Given the description of an element on the screen output the (x, y) to click on. 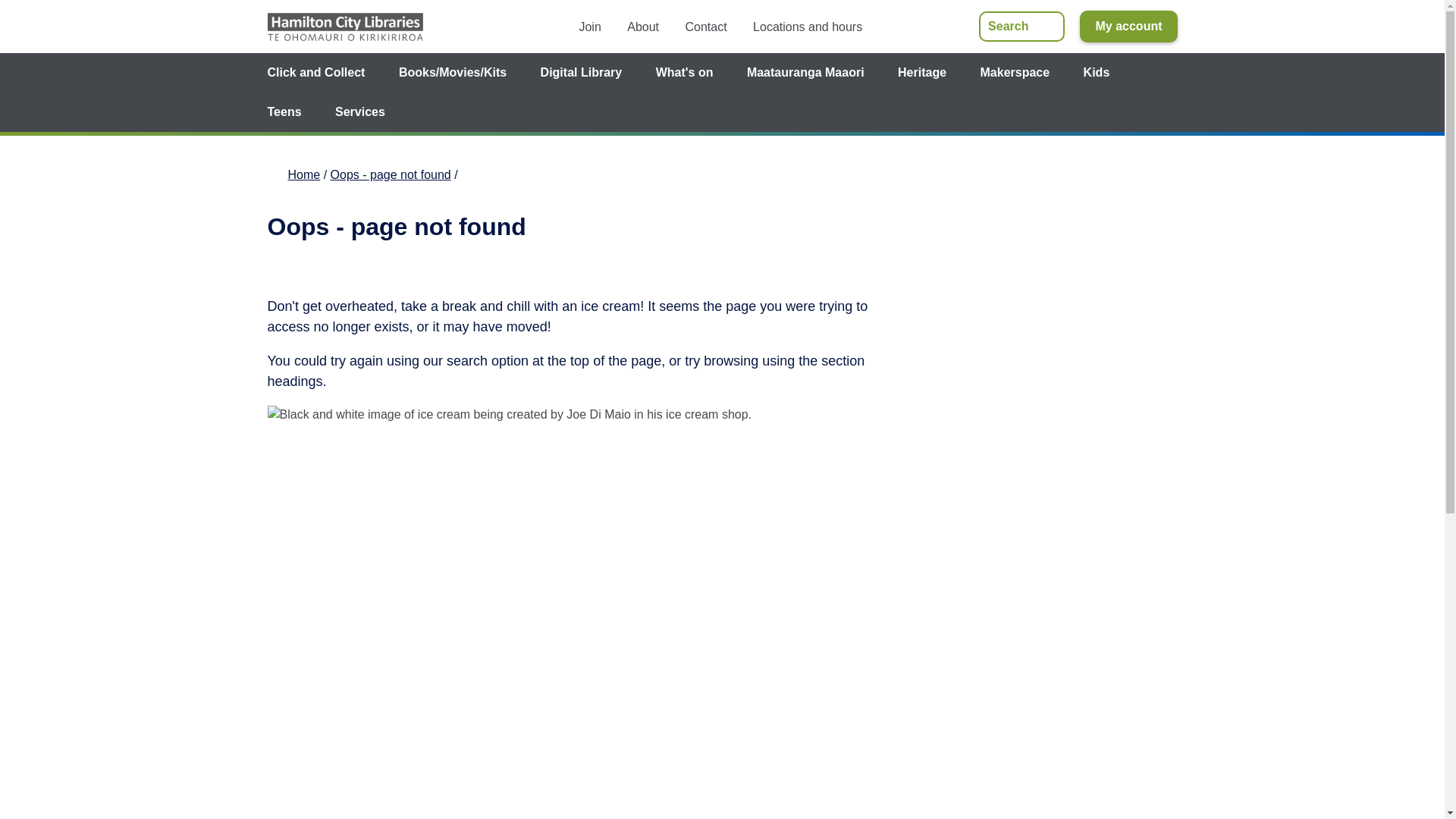
What's on (684, 72)
Digital Library (581, 72)
Makerspace (1015, 72)
Heritage (921, 72)
Contact (705, 25)
About (643, 25)
Teens (283, 111)
Oops - page not found (390, 174)
Click and Collect (315, 72)
